Given the description of an element on the screen output the (x, y) to click on. 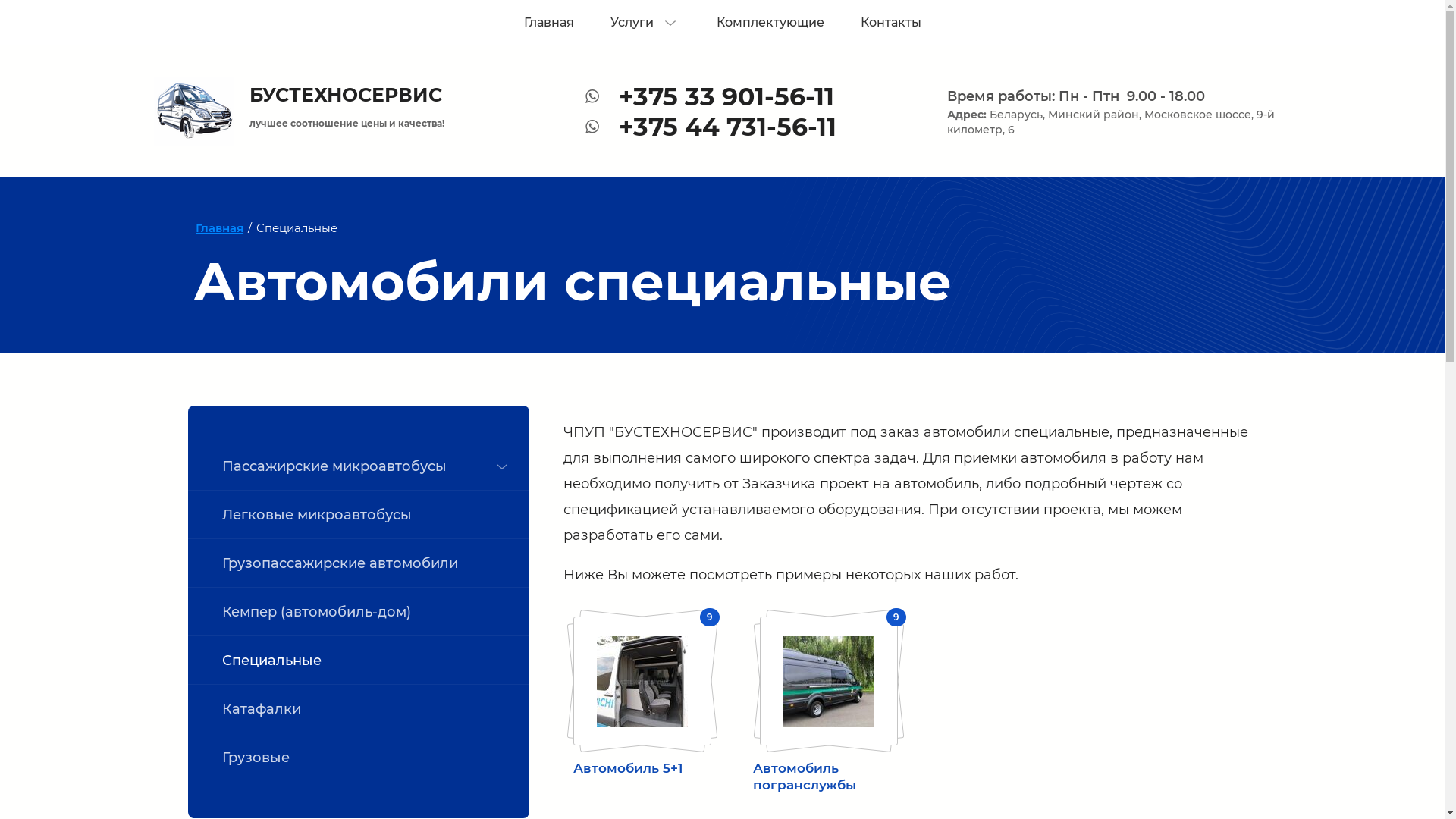
+375 44 731-56-11 Element type: text (727, 126)
+375 33 901-56-11 Element type: text (726, 95)
9 Element type: text (828, 680)
9 Element type: text (642, 680)
